Given the description of an element on the screen output the (x, y) to click on. 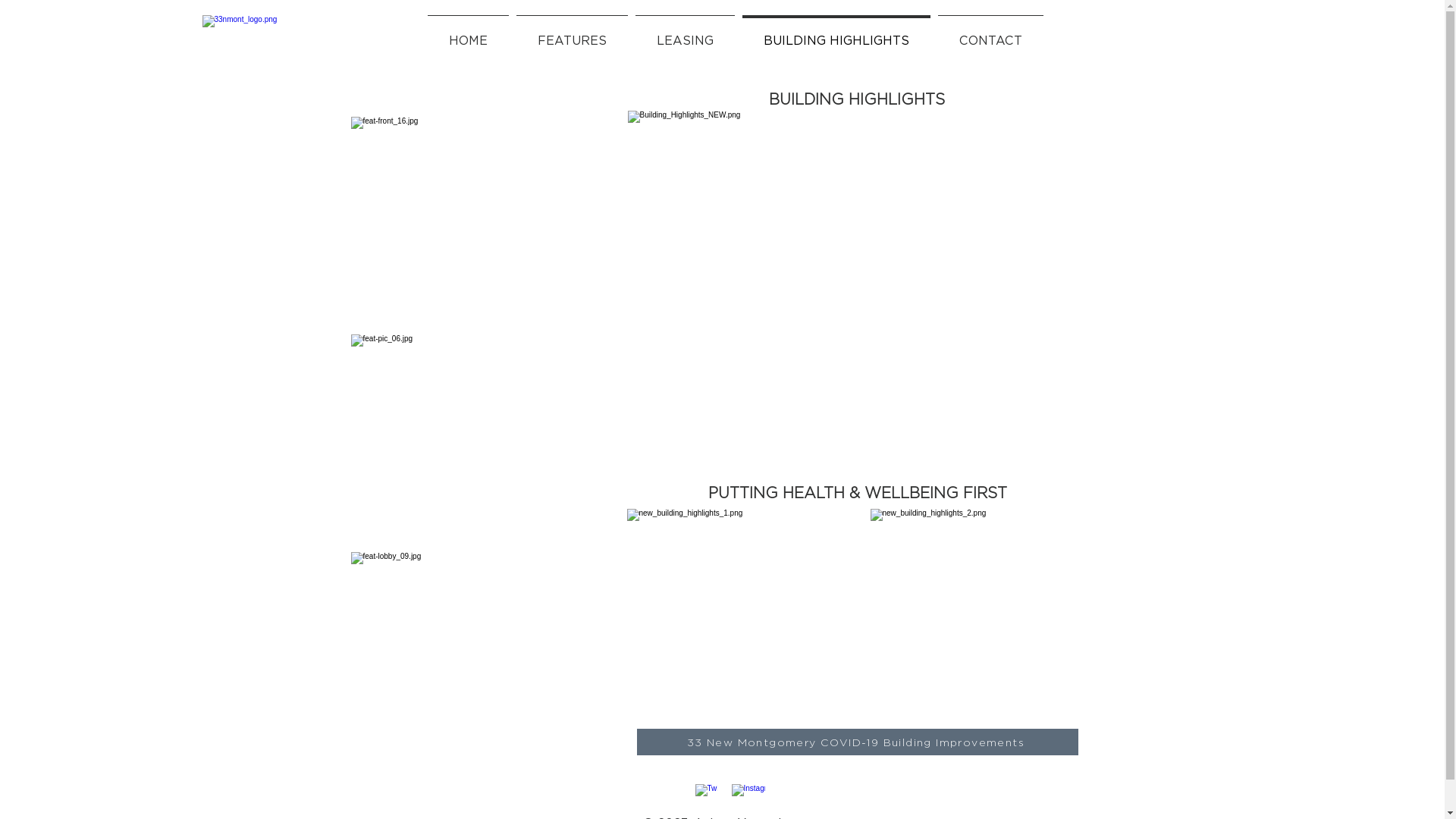
LEASING Element type: text (683, 34)
CONTACT Element type: text (990, 34)
HOME Element type: text (467, 34)
FEATURES Element type: text (571, 34)
33 New Montgomery COVID-19 Building Improvements Element type: text (857, 741)
BUILDING HIGHLIGHTS Element type: text (836, 34)
